Given the description of an element on the screen output the (x, y) to click on. 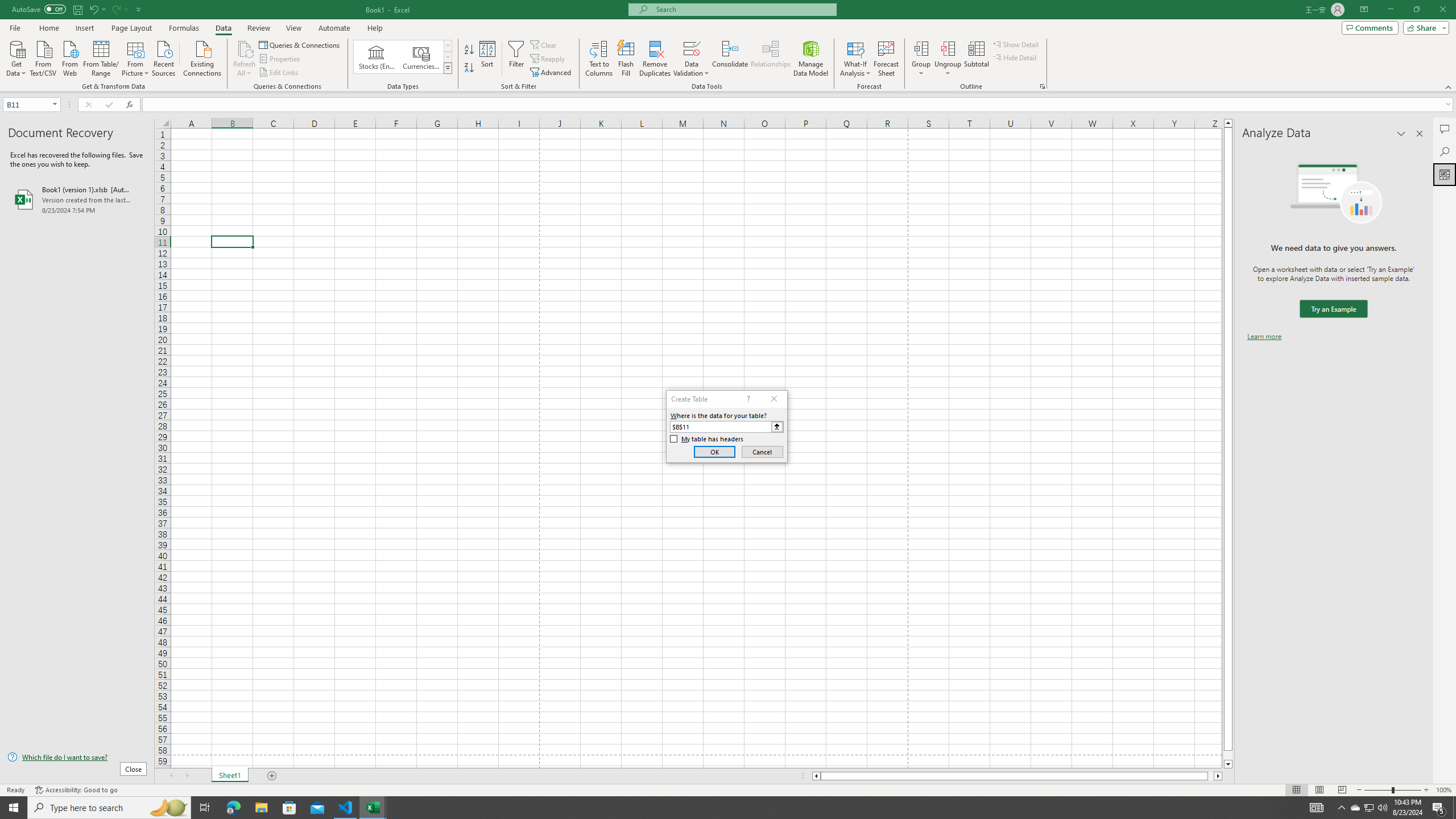
What-If Analysis (855, 58)
From Web (69, 57)
Group and Outline Settings (1042, 85)
